Given the description of an element on the screen output the (x, y) to click on. 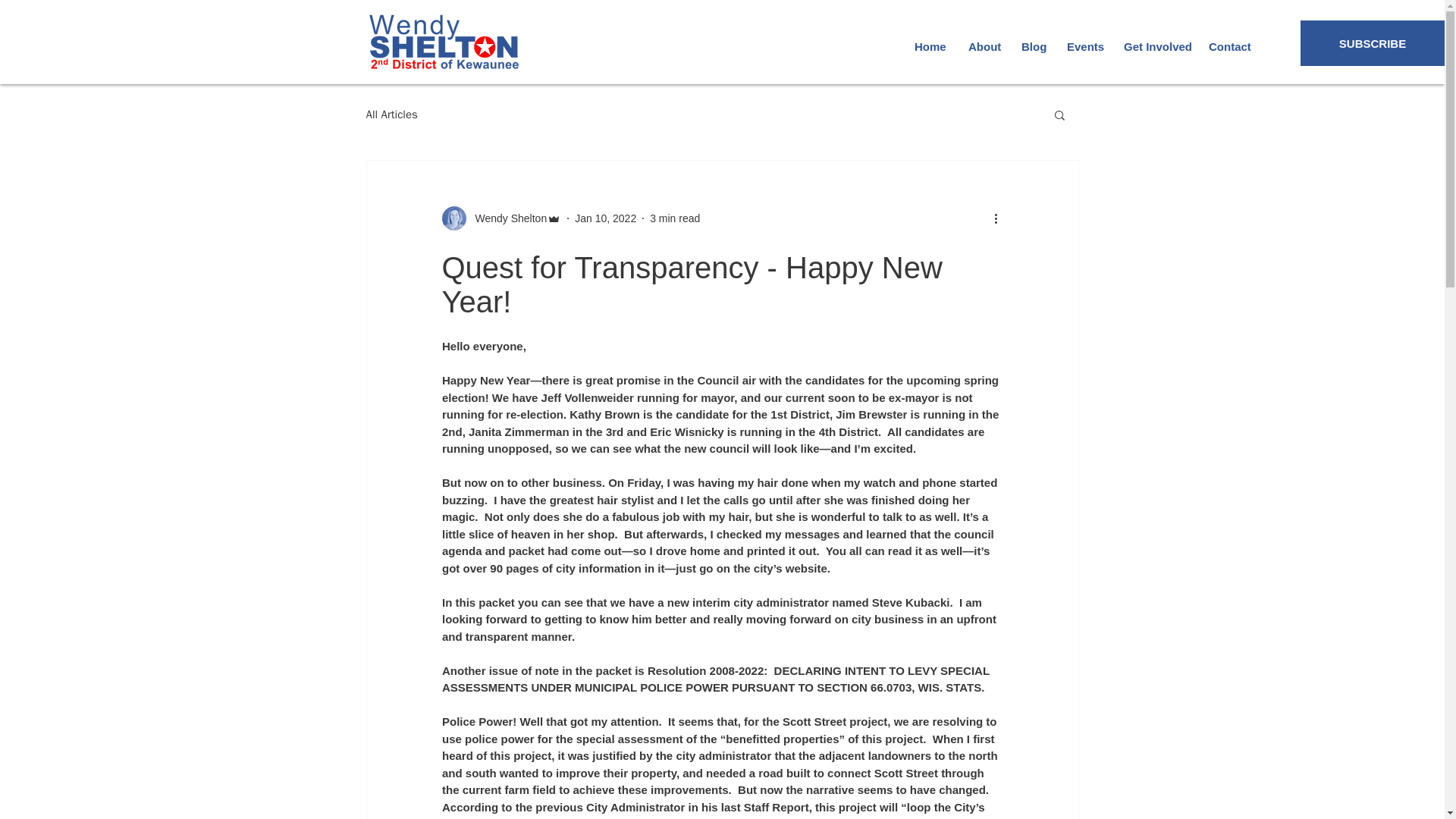
Wendy Shelton (506, 218)
Blog (1032, 46)
All Articles (390, 114)
About (983, 46)
Events (1083, 46)
Jan 10, 2022 (605, 218)
Home (929, 46)
Wendy Shelton (500, 218)
Get Involved (1154, 46)
3 min read (674, 218)
Contact (1228, 46)
